Given the description of an element on the screen output the (x, y) to click on. 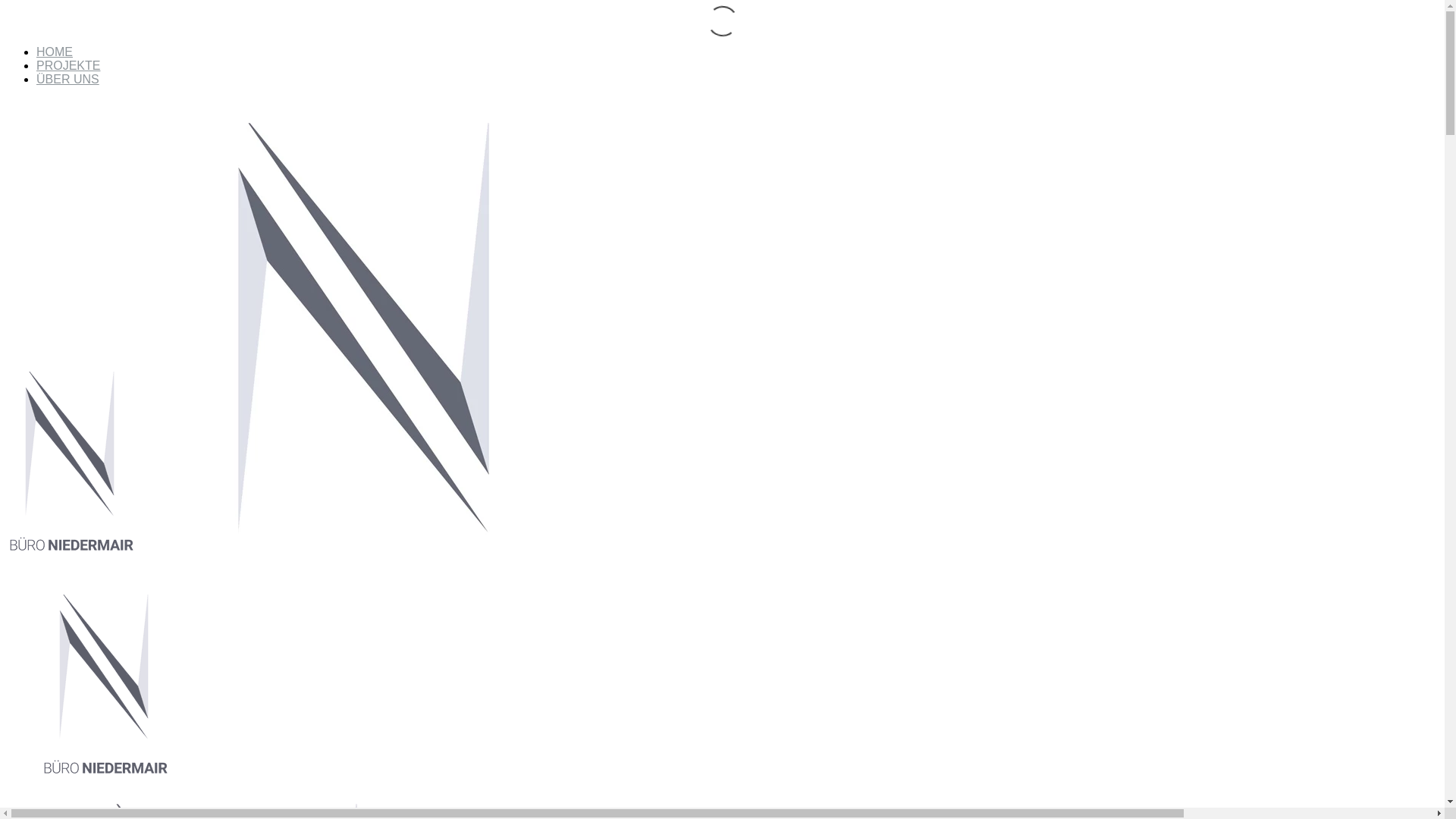
HOME Element type: text (54, 51)
PROJEKTE Element type: text (68, 65)
